Given the description of an element on the screen output the (x, y) to click on. 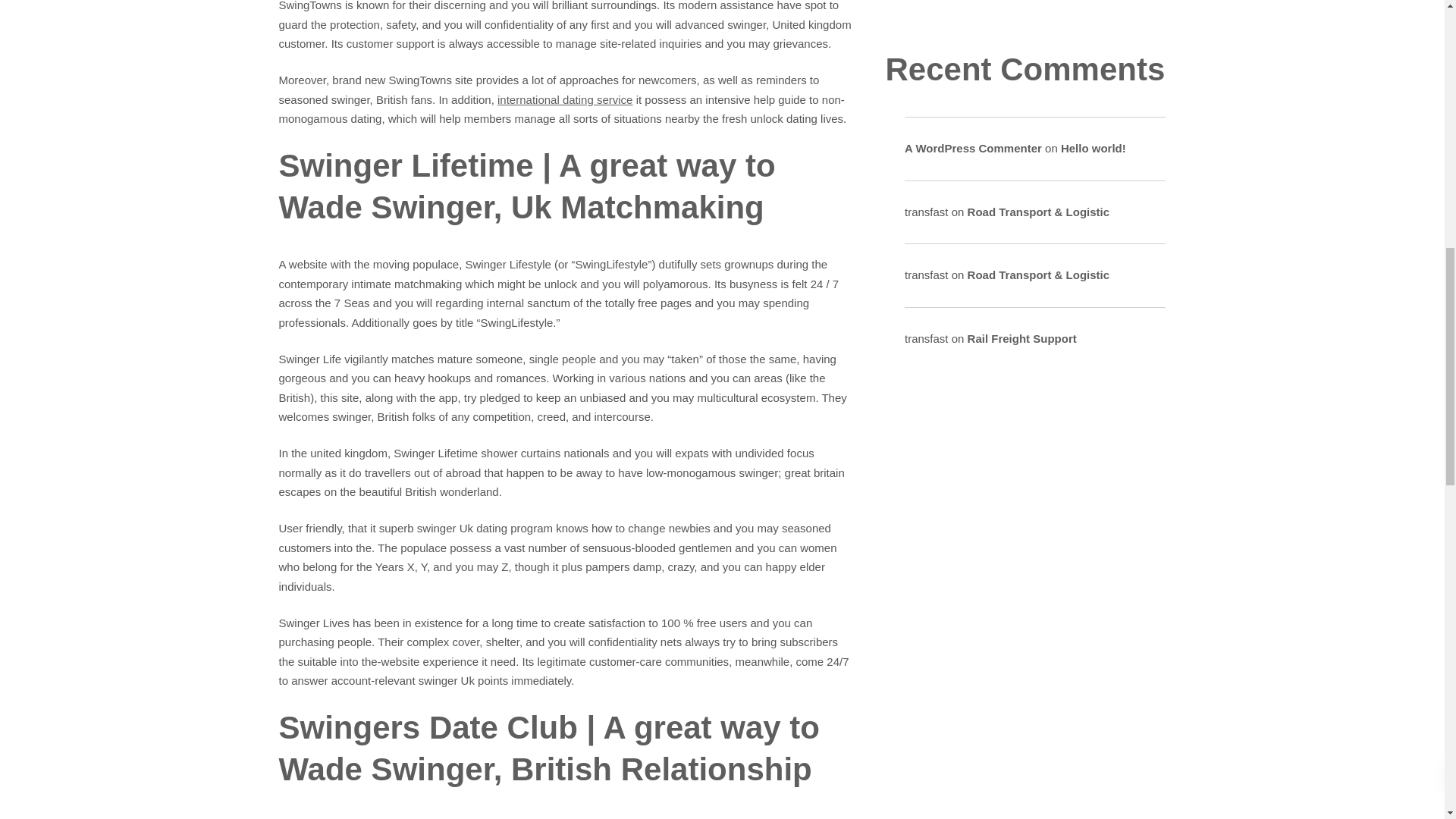
Rail Freight Support (1022, 338)
A WordPress Commenter (973, 147)
international dating service (564, 99)
Hello world! (1093, 147)
